Given the description of an element on the screen output the (x, y) to click on. 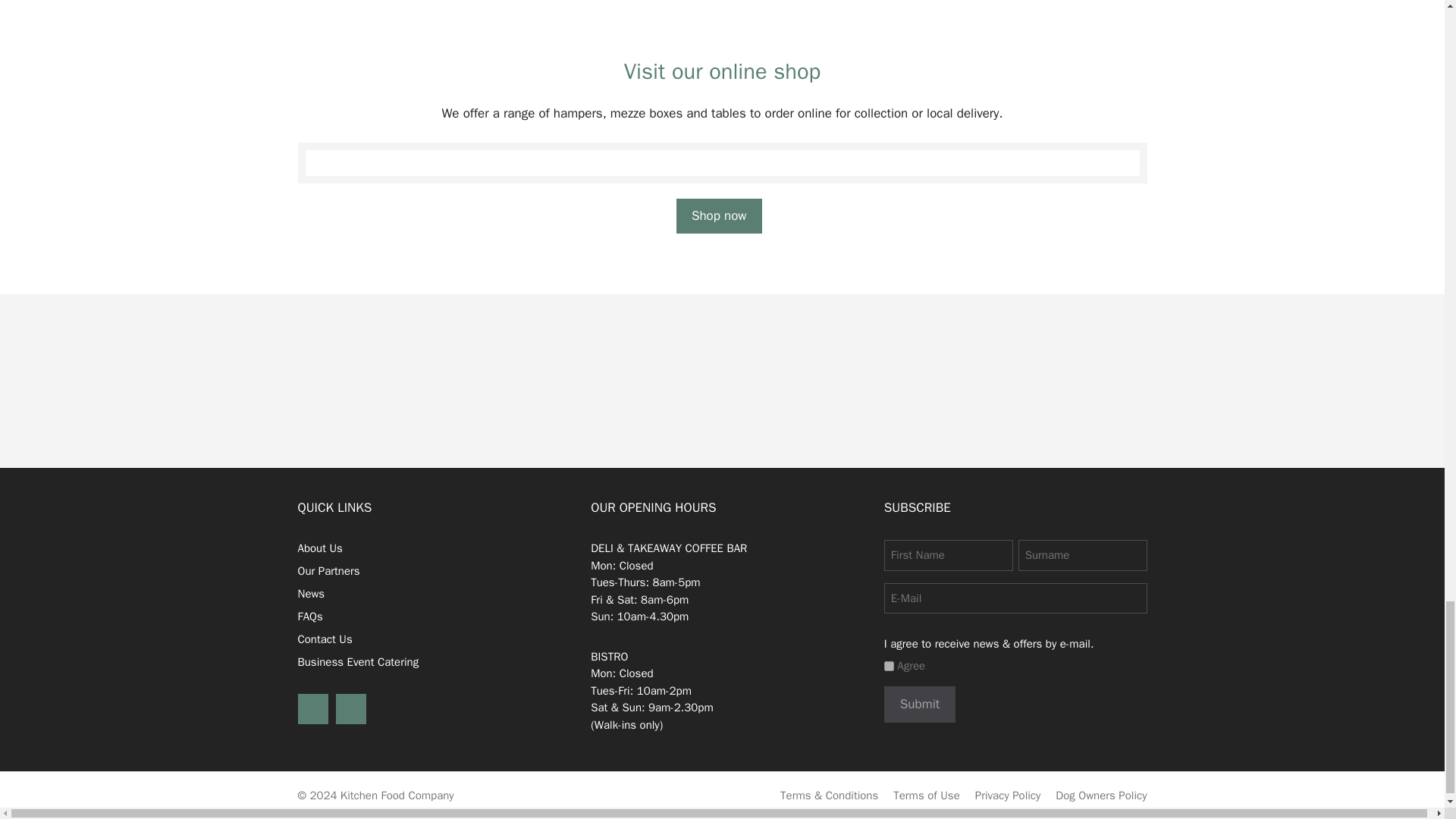
FAQs (309, 616)
Our Partners (328, 571)
Shop now (719, 216)
News (310, 593)
Submit (919, 704)
Business Event Catering (358, 662)
Yes (888, 665)
Contact Us (324, 639)
About Us (319, 548)
